Given the description of an element on the screen output the (x, y) to click on. 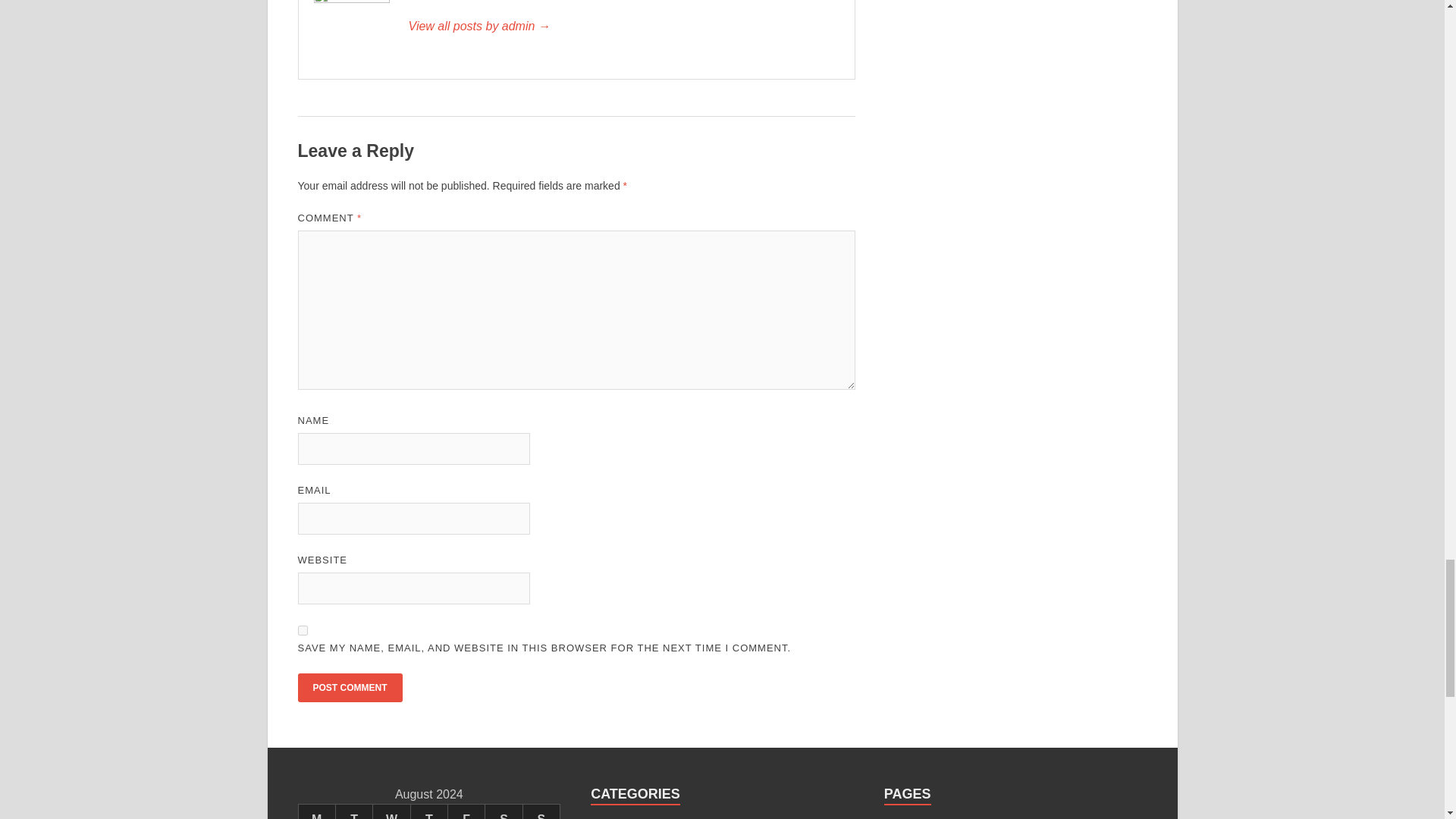
Post Comment (349, 687)
Wednesday (391, 811)
admin (622, 26)
Monday (316, 811)
Post Comment (349, 687)
Tuesday (353, 811)
yes (302, 630)
Thursday (428, 811)
Friday (465, 811)
